Given the description of an element on the screen output the (x, y) to click on. 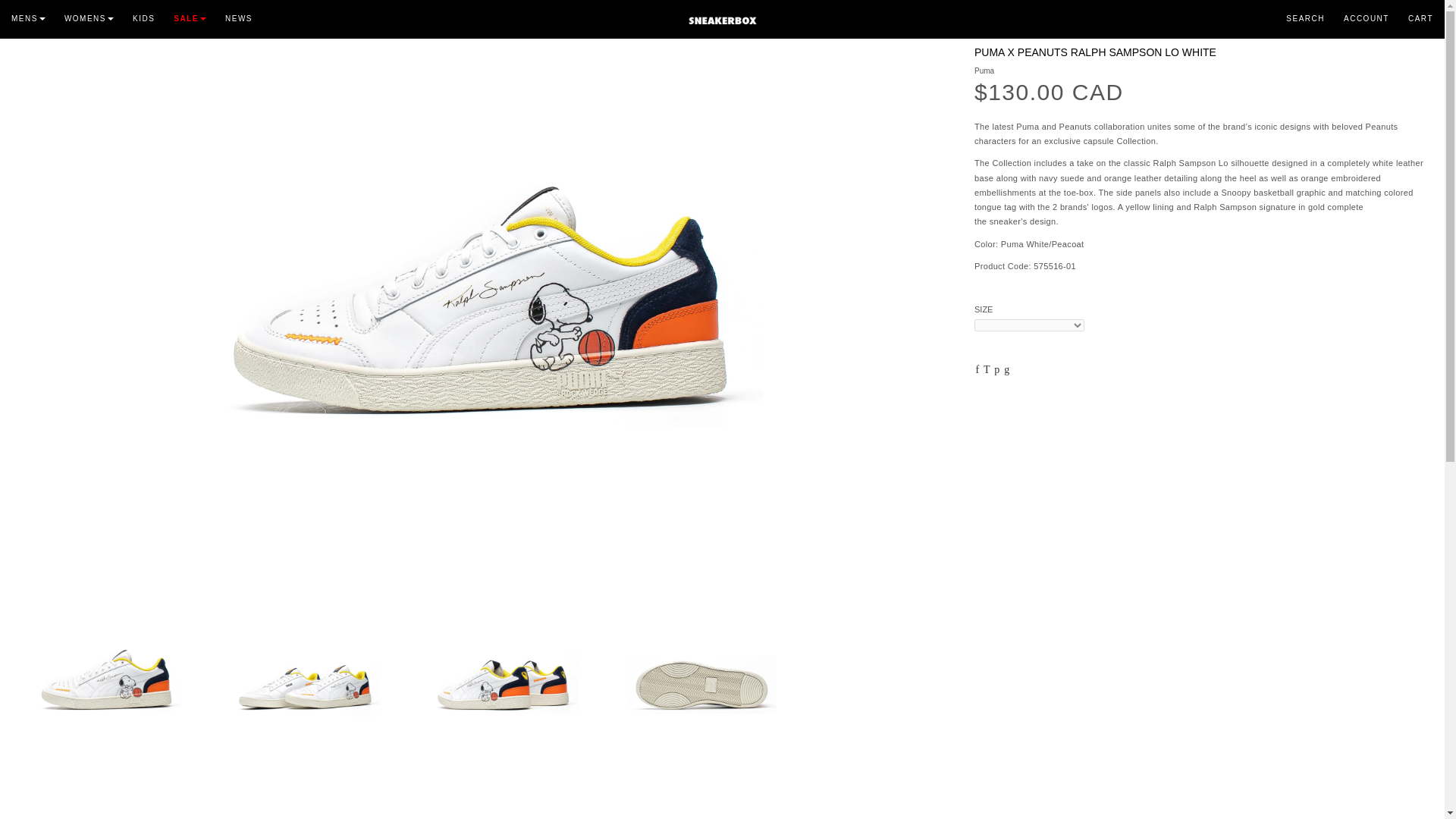
Back to the frontpage (22, 10)
WOMENS (98, 15)
MENS (37, 15)
